Given the description of an element on the screen output the (x, y) to click on. 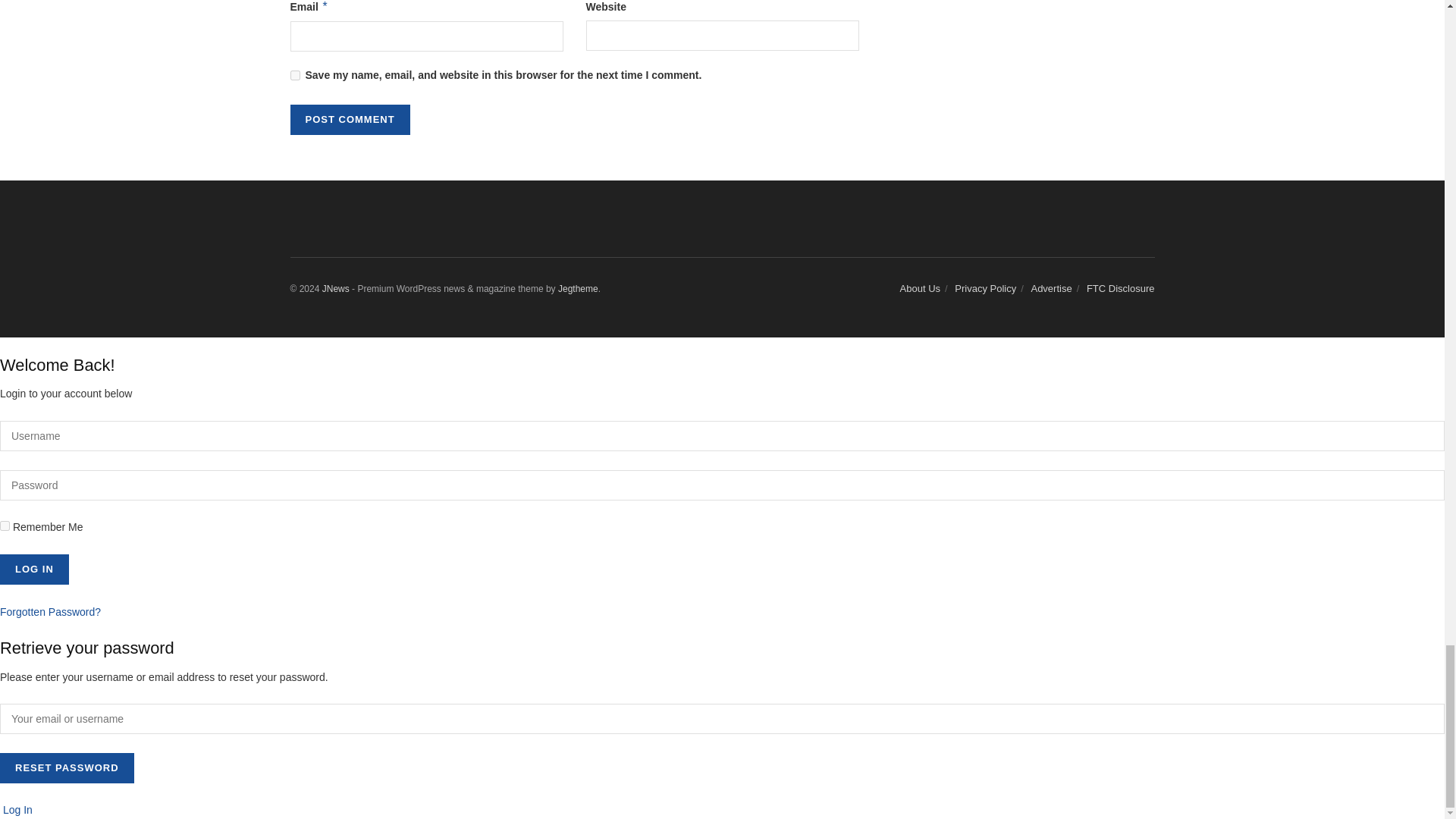
Reset Password (66, 767)
Post Comment (349, 119)
yes (294, 75)
Jegtheme (577, 288)
true (5, 525)
Log In (34, 569)
